Given the description of an element on the screen output the (x, y) to click on. 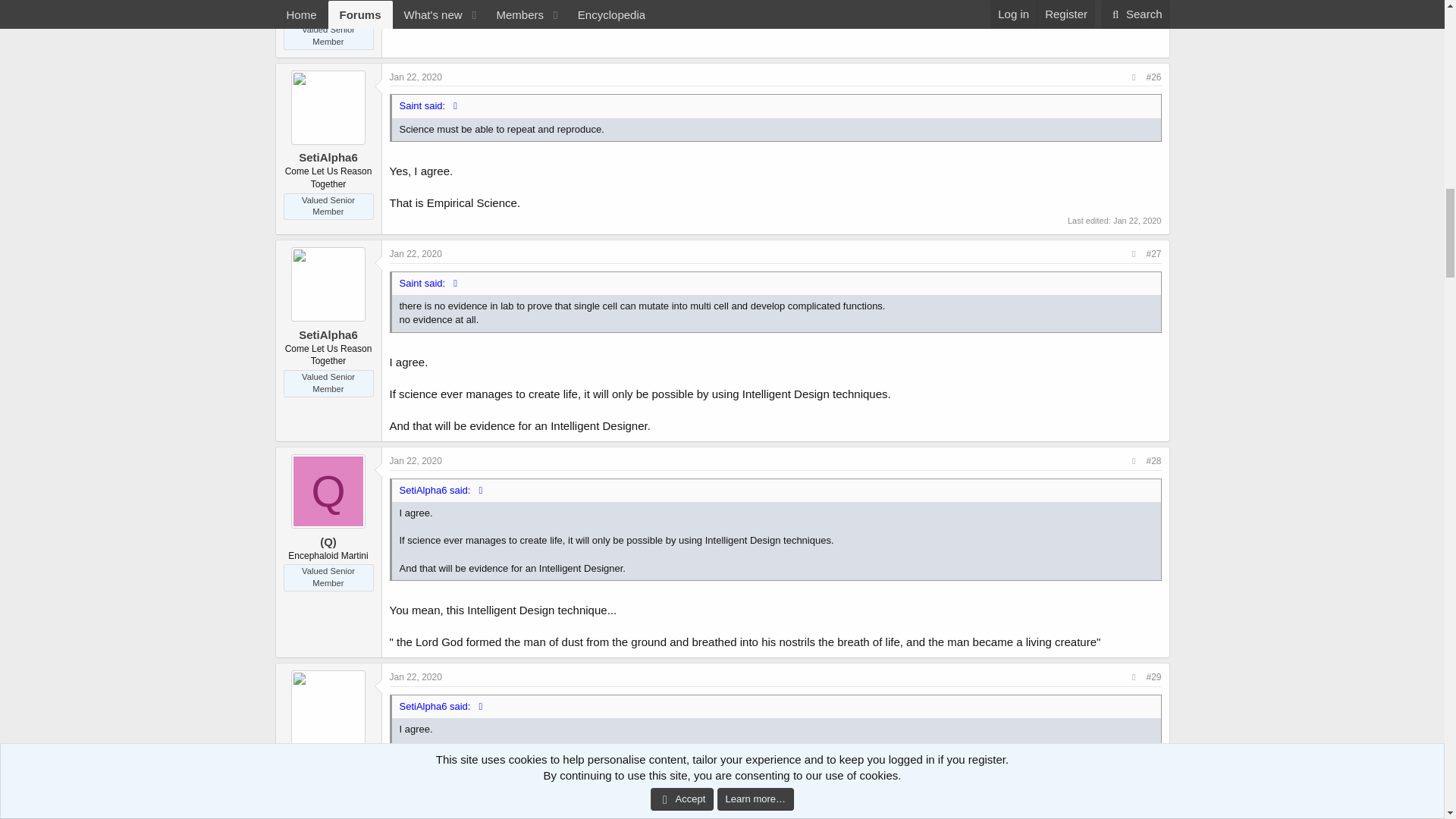
Jan 22, 2020 at 12:12 AM (1137, 220)
Jan 22, 2020 at 12:11 AM (416, 253)
Jan 22, 2020 at 2:09 AM (416, 676)
Jan 22, 2020 at 1:55 AM (416, 460)
Jan 22, 2020 at 12:06 AM (416, 77)
